Given the description of an element on the screen output the (x, y) to click on. 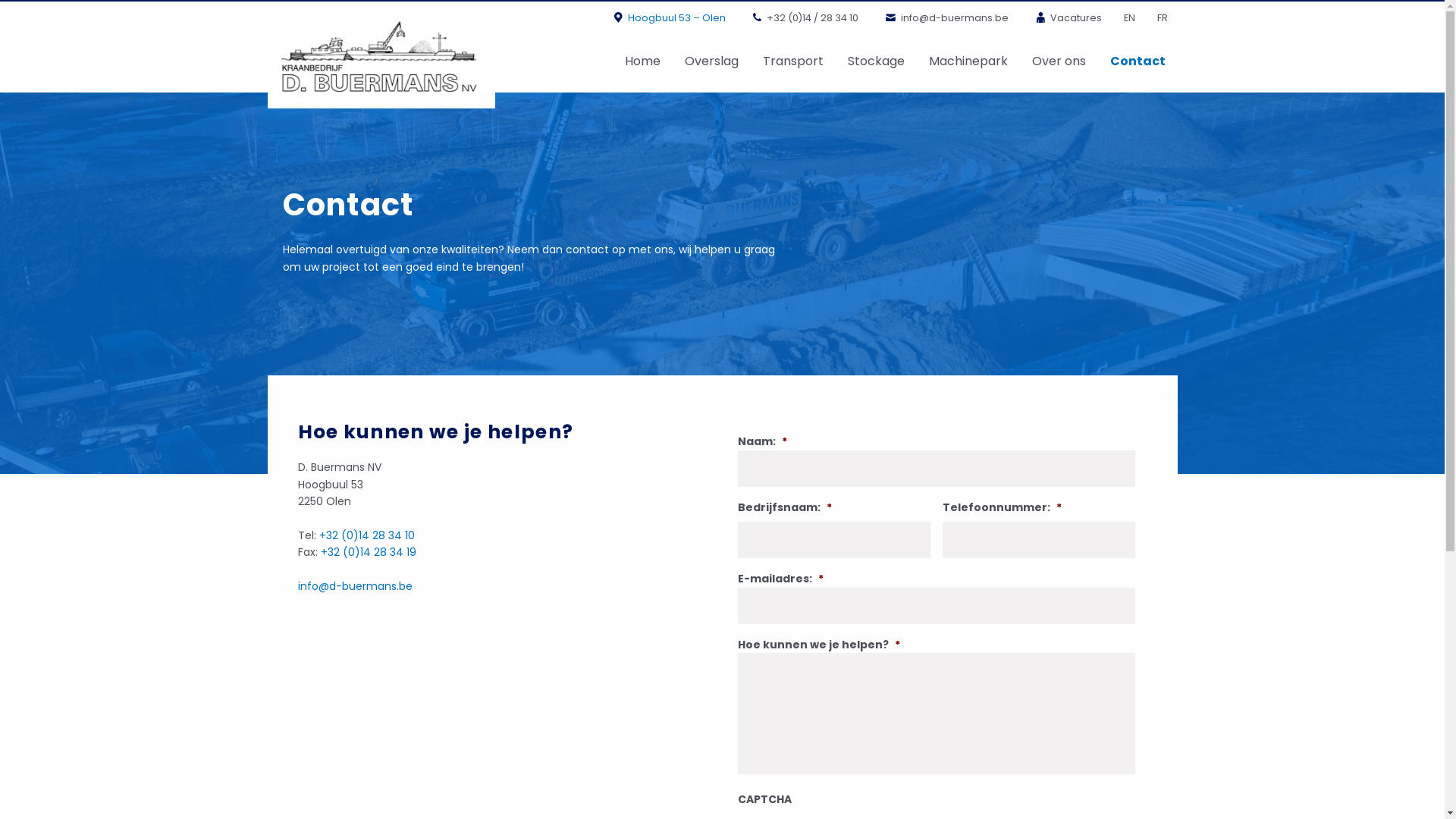
+32 (0)14 28 34 10 Element type: text (366, 534)
Contact Element type: text (1137, 61)
+32 (0)14 / 28 34 10 Element type: text (803, 17)
Machinepark Element type: text (967, 61)
info@d-buermans.be Element type: text (944, 17)
Transport Element type: text (792, 61)
Vacatures Element type: text (1065, 17)
Over ons Element type: text (1058, 61)
+32 (0)14 28 34 19 Element type: text (367, 551)
info@d-buermans.be Element type: text (354, 585)
Stockage Element type: text (875, 61)
Overslag Element type: text (710, 61)
EN Element type: text (1128, 18)
FR Element type: text (1161, 18)
Home Element type: text (642, 61)
